Given the description of an element on the screen output the (x, y) to click on. 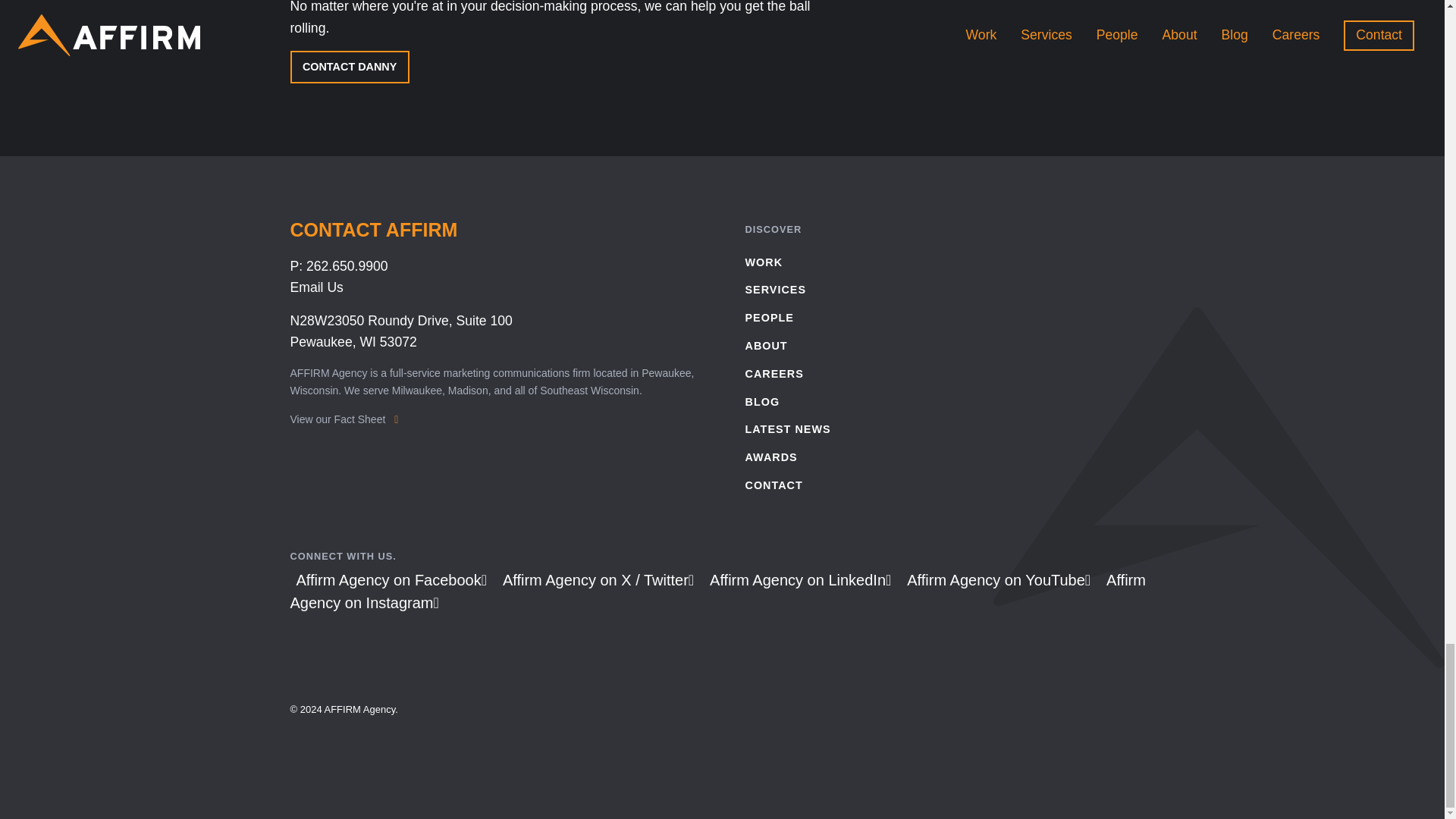
PEOPLE (949, 317)
SERVICES (949, 289)
262.650.9900 (346, 265)
ABOUT (949, 346)
CONTACT DANNY (349, 66)
Email Us (315, 287)
View our Fact Sheet (343, 419)
WORK (400, 330)
